Given the description of an element on the screen output the (x, y) to click on. 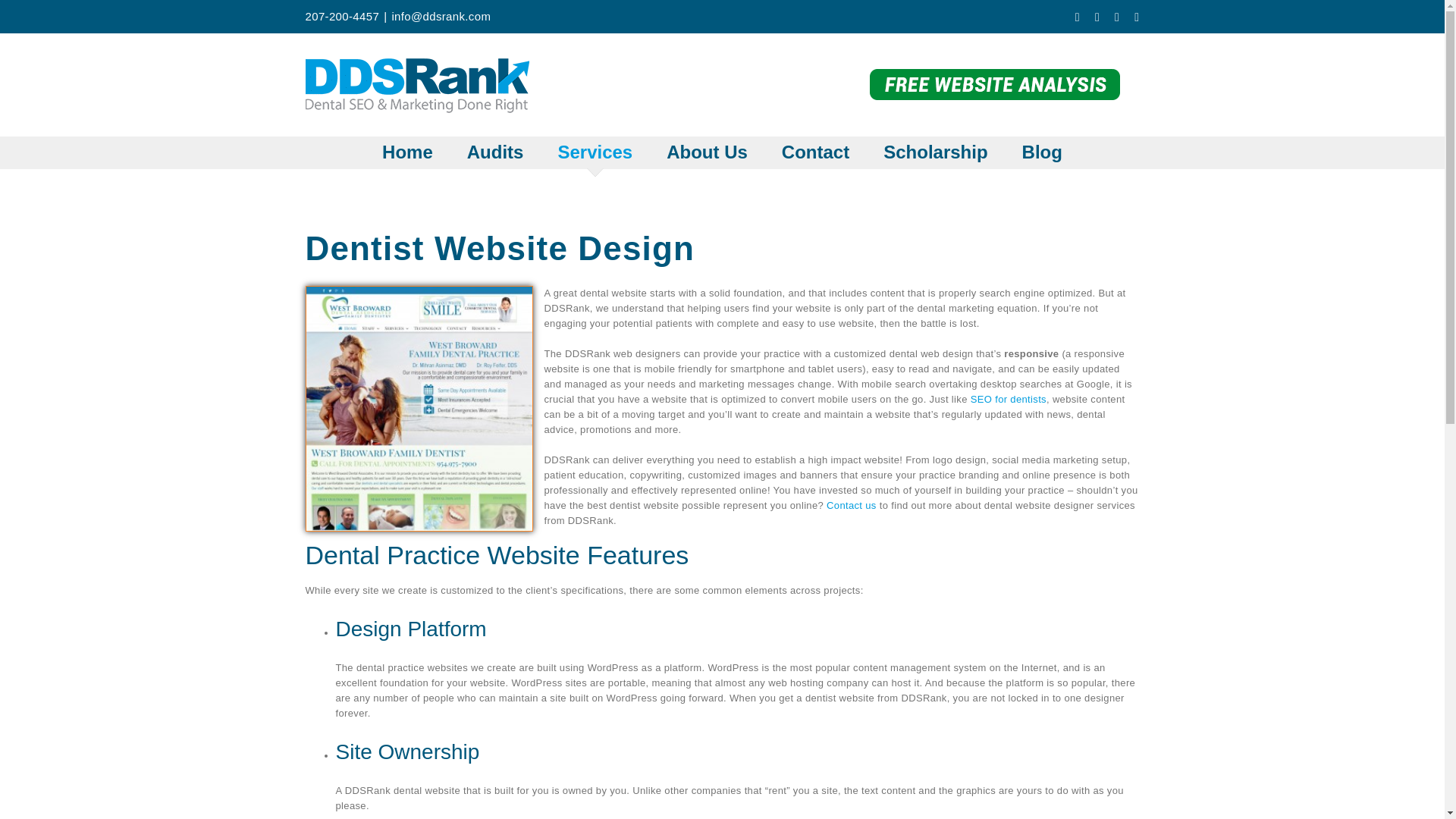
Home (406, 152)
About Us (707, 152)
Services (594, 152)
YouTube (1117, 16)
Contact (814, 152)
LinkedIn (1136, 16)
YouTube (1117, 16)
Get a Free Dental SEO Analysis! (994, 84)
Facebook (1077, 16)
SEO for dentists (1008, 398)
Twitter (1096, 16)
Contact us (851, 505)
Facebook (1077, 16)
Blog (1042, 152)
Audits (495, 152)
